Given the description of an element on the screen output the (x, y) to click on. 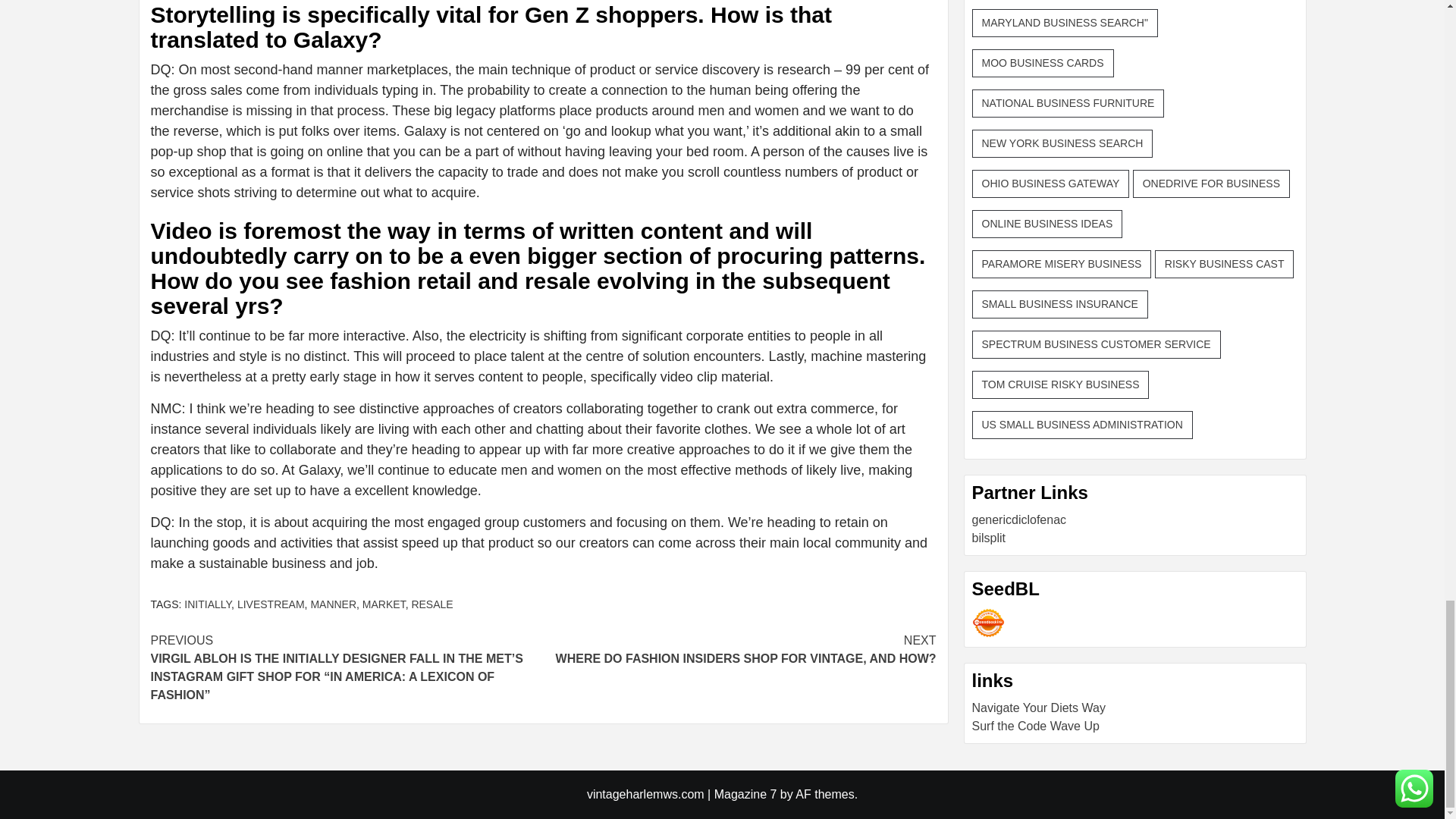
MANNER (739, 649)
MARKET (333, 604)
LIVESTREAM (384, 604)
INITIALLY (270, 604)
RESALE (207, 604)
